Given the description of an element on the screen output the (x, y) to click on. 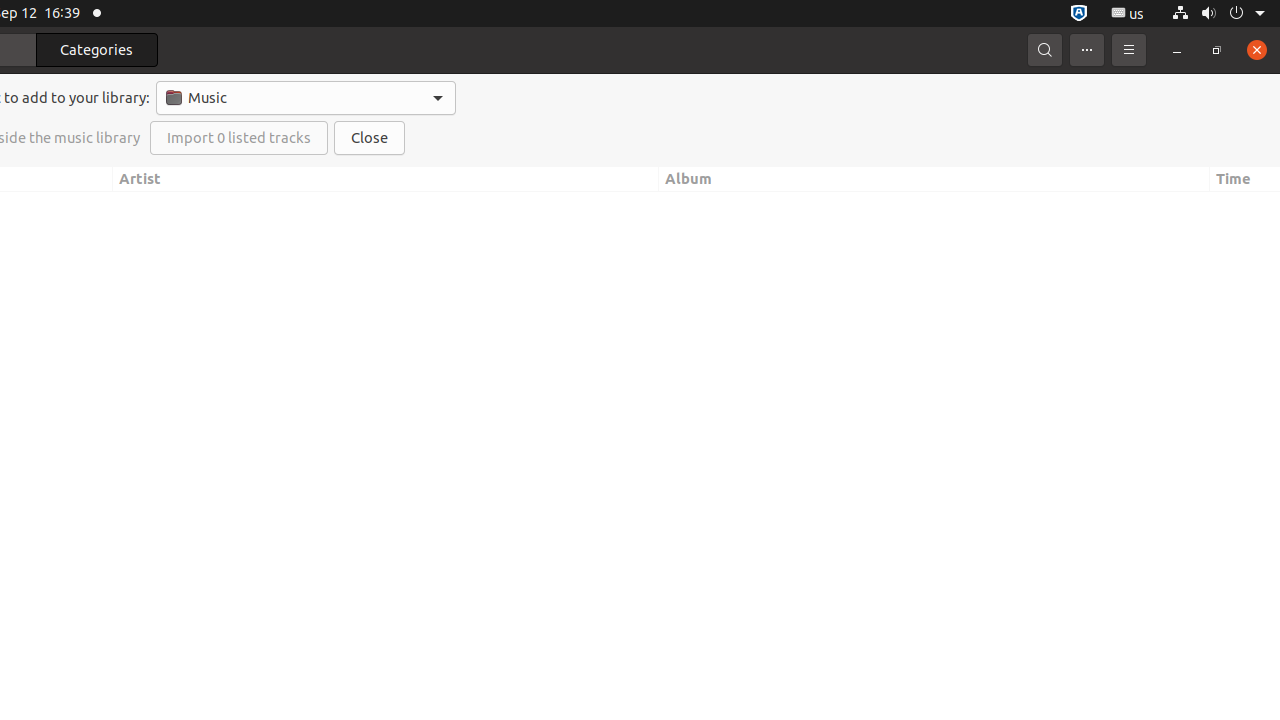
Minimize Element type: push-button (1177, 50)
Restore Element type: push-button (1217, 50)
Music Element type: combo-box (306, 97)
